Given the description of an element on the screen output the (x, y) to click on. 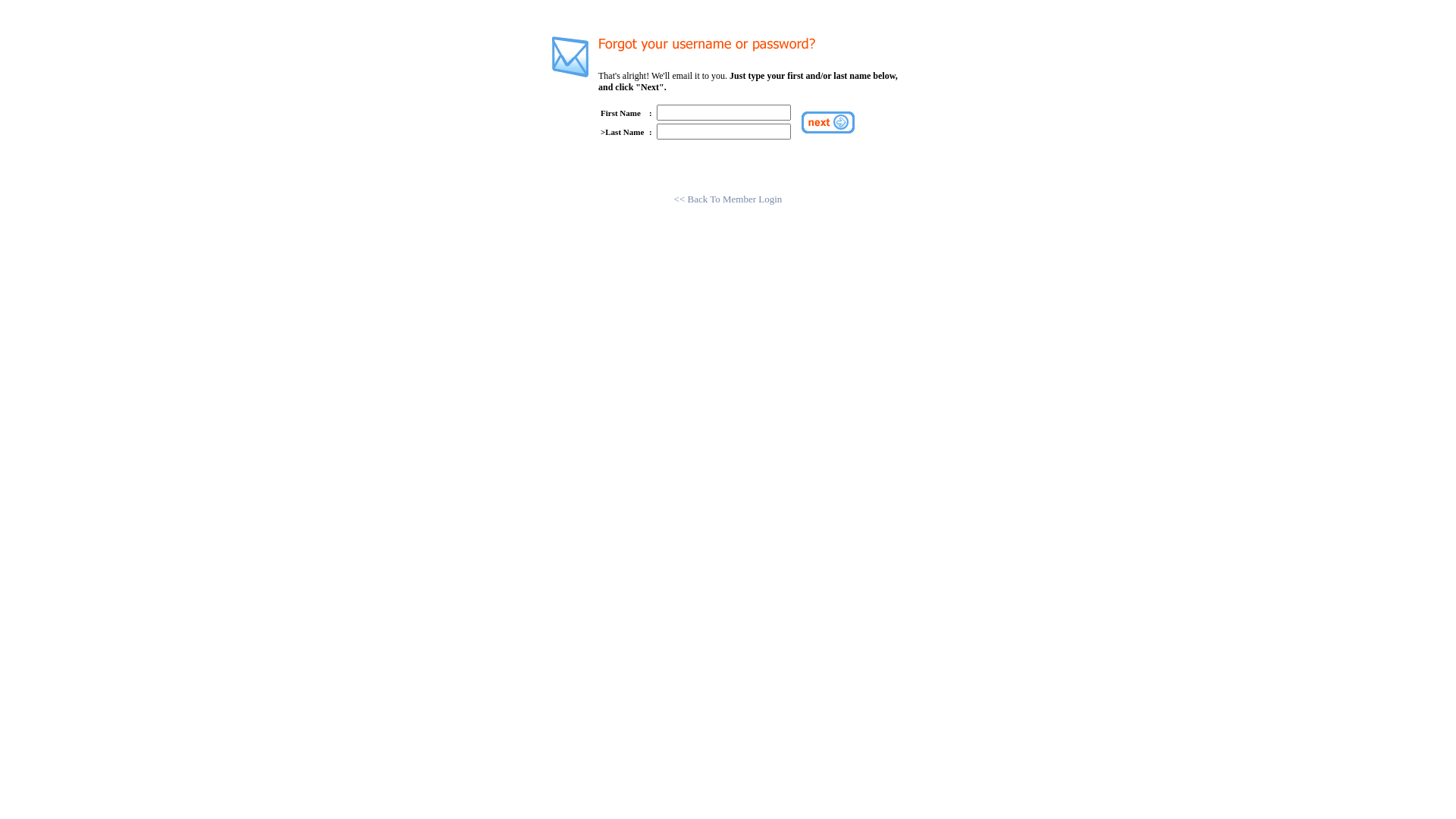
<< Back To Member Login Element type: text (728, 198)
